Given the description of an element on the screen output the (x, y) to click on. 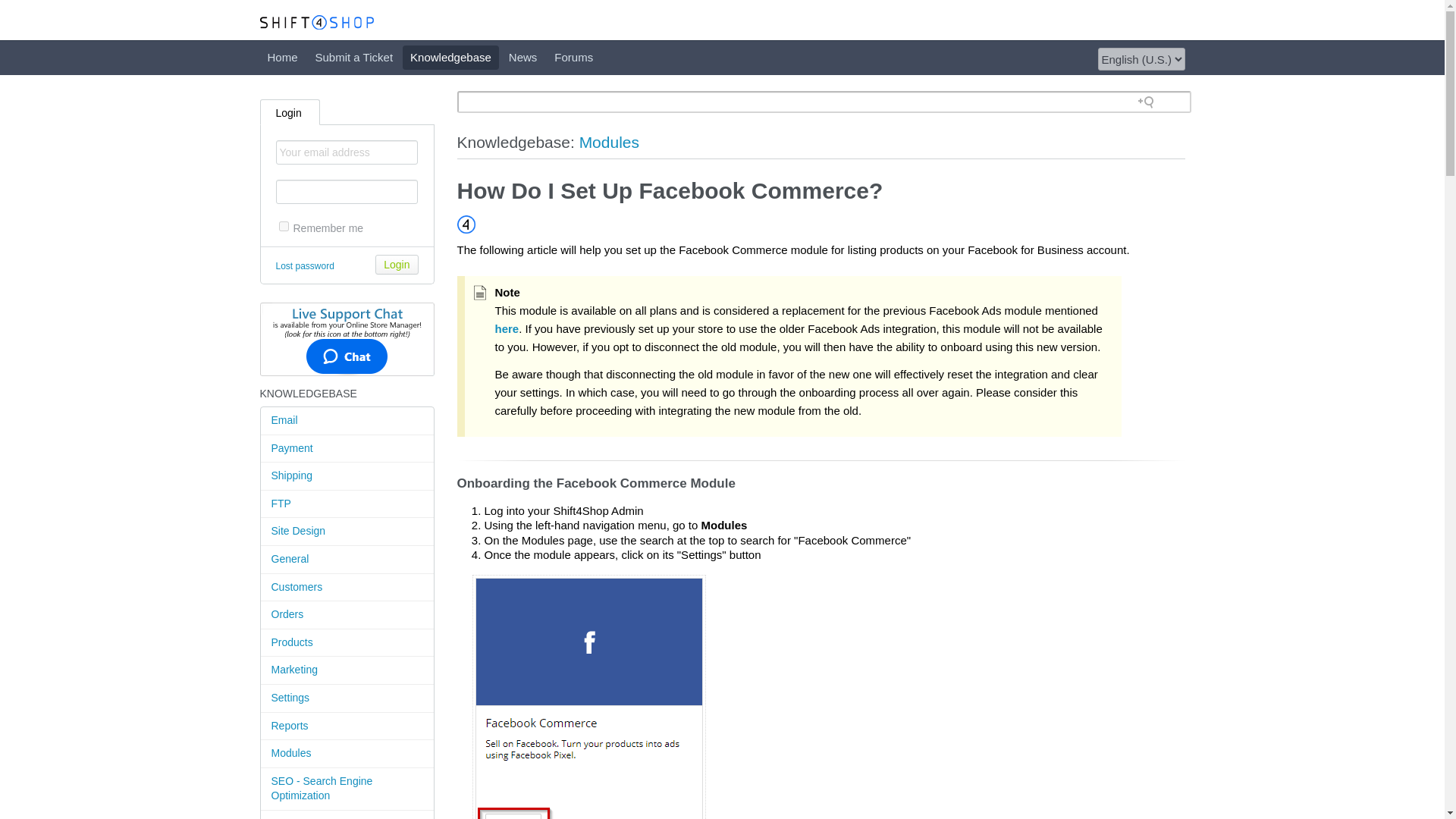
News (522, 57)
Login (290, 111)
Customers (346, 587)
here (506, 328)
1 (283, 225)
Modules (346, 754)
Home (281, 57)
Knowledgebase (451, 57)
Payment (346, 448)
Marketing (346, 670)
Your email address (346, 152)
SEO - Search Engine Optimization (346, 789)
Reports (346, 726)
Products (346, 643)
Login (396, 264)
